Given the description of an element on the screen output the (x, y) to click on. 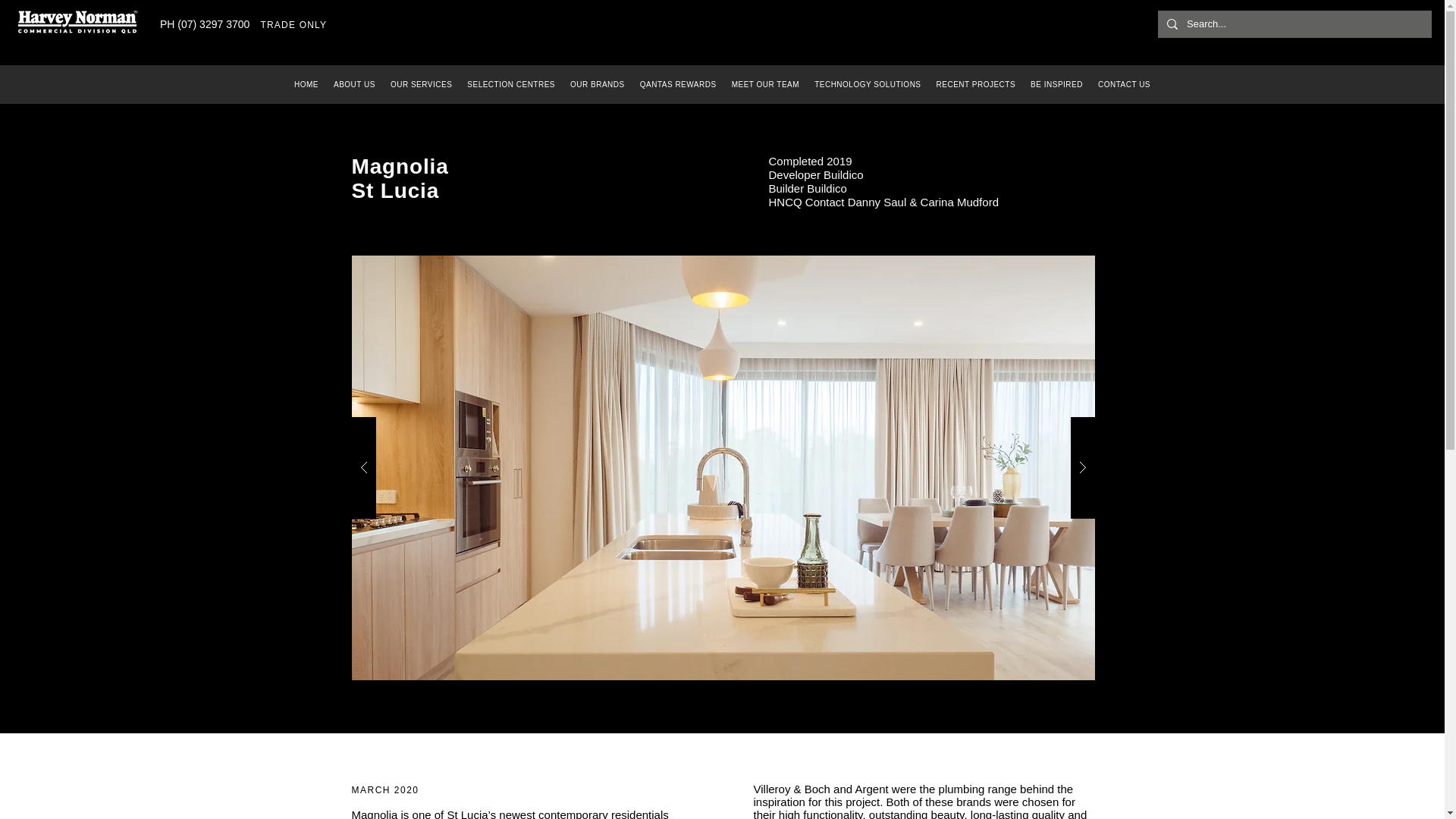
OUR BRANDS (596, 83)
OUR SERVICES (421, 83)
ABOUT US (354, 83)
MEET OUR TEAM (764, 83)
TECHNOLOGY SOLUTIONS (867, 83)
HOME (306, 83)
BE INSPIRED (1056, 83)
SELECTION CENTRES (511, 83)
CONTACT US (1123, 83)
QANTAS REWARDS (677, 83)
RECENT PROJECTS (975, 83)
